Given the description of an element on the screen output the (x, y) to click on. 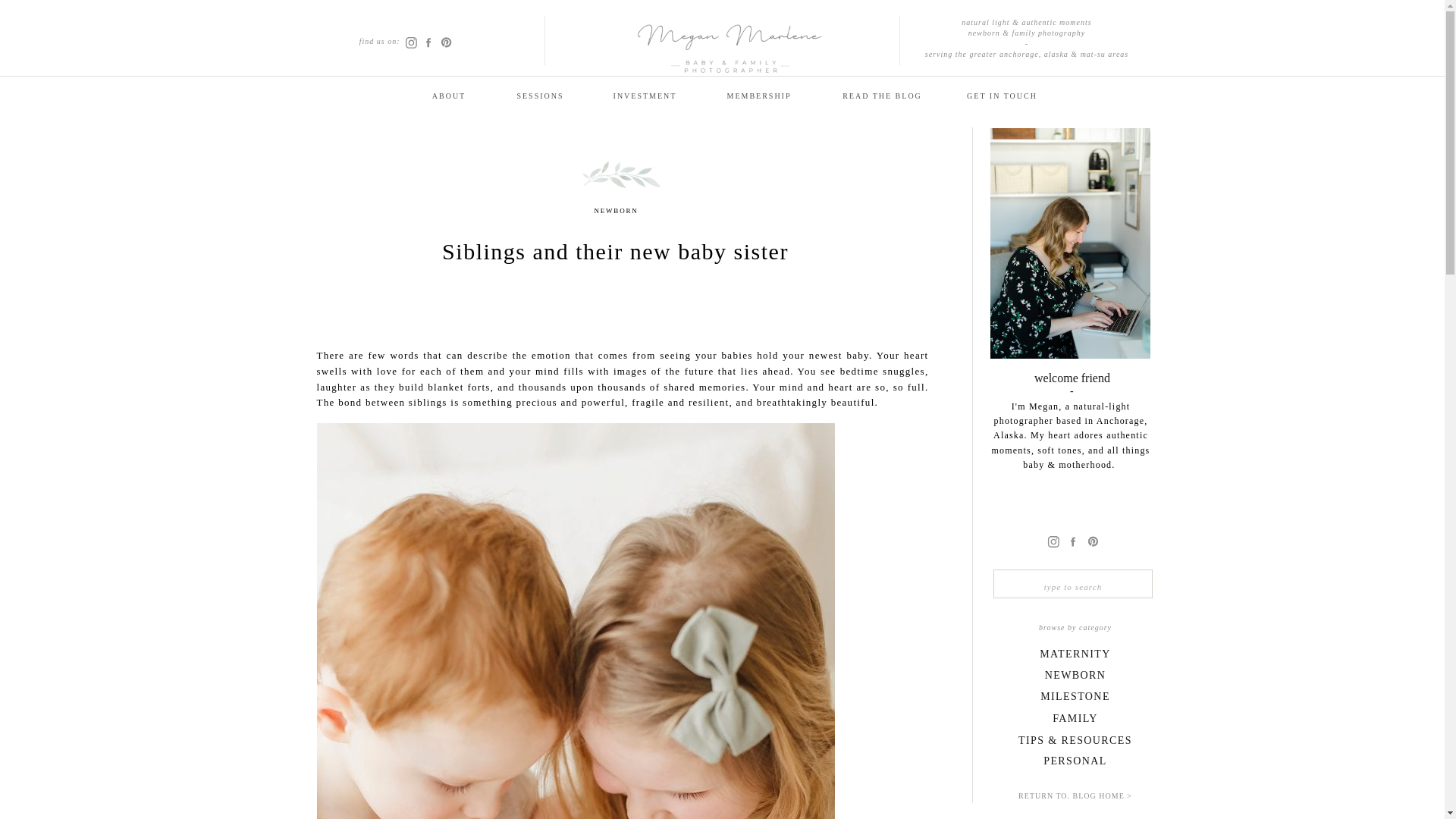
Instagram-color Created with Sketch. (1052, 541)
ABOUT (449, 100)
SESSIONS (539, 100)
Instagram-color Created with Sketch. (410, 42)
MEMBERSHIP (759, 100)
INVESTMENT (644, 100)
find us on: (376, 51)
READ THE BLOG (881, 100)
GET IN TOUCH (1002, 100)
Instagram-color Created with Sketch. (410, 42)
